Given the description of an element on the screen output the (x, y) to click on. 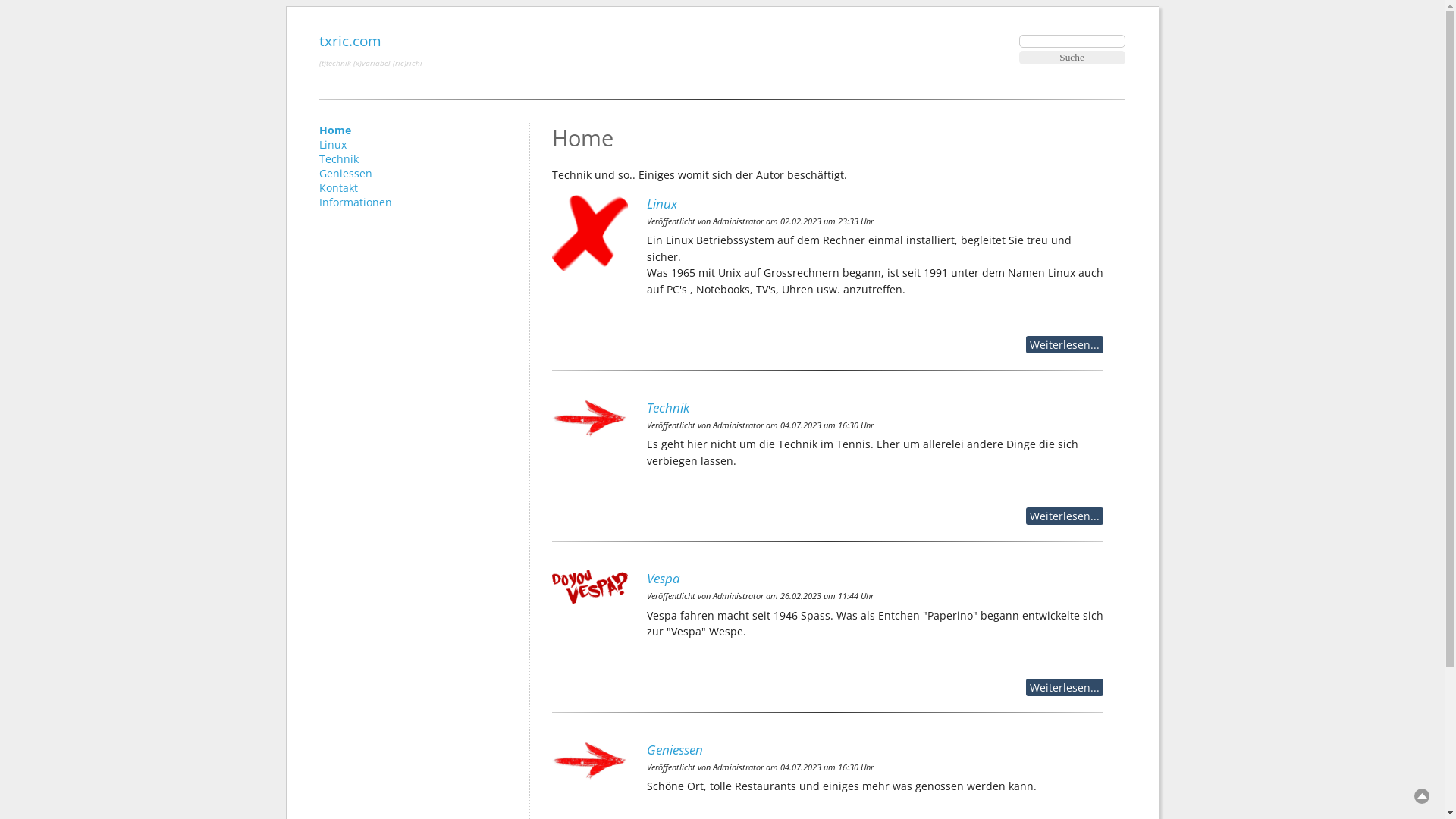
Technik Element type: text (874, 407)
Weiterlesen... Element type: text (1064, 687)
Geniessen Element type: text (841, 749)
Informationen Element type: text (355, 201)
Weiterlesen... Element type: text (1064, 515)
Suche Element type: text (1072, 57)
Geniessen Element type: text (345, 173)
txric.com Element type: text (350, 40)
Vespa Element type: text (874, 577)
Kontakt Element type: text (338, 187)
Linux Element type: text (874, 203)
Home Element type: text (335, 129)
Weiterlesen... Element type: text (1064, 344)
Technik Element type: text (338, 158)
Linux Element type: text (332, 144)
